Given the description of an element on the screen output the (x, y) to click on. 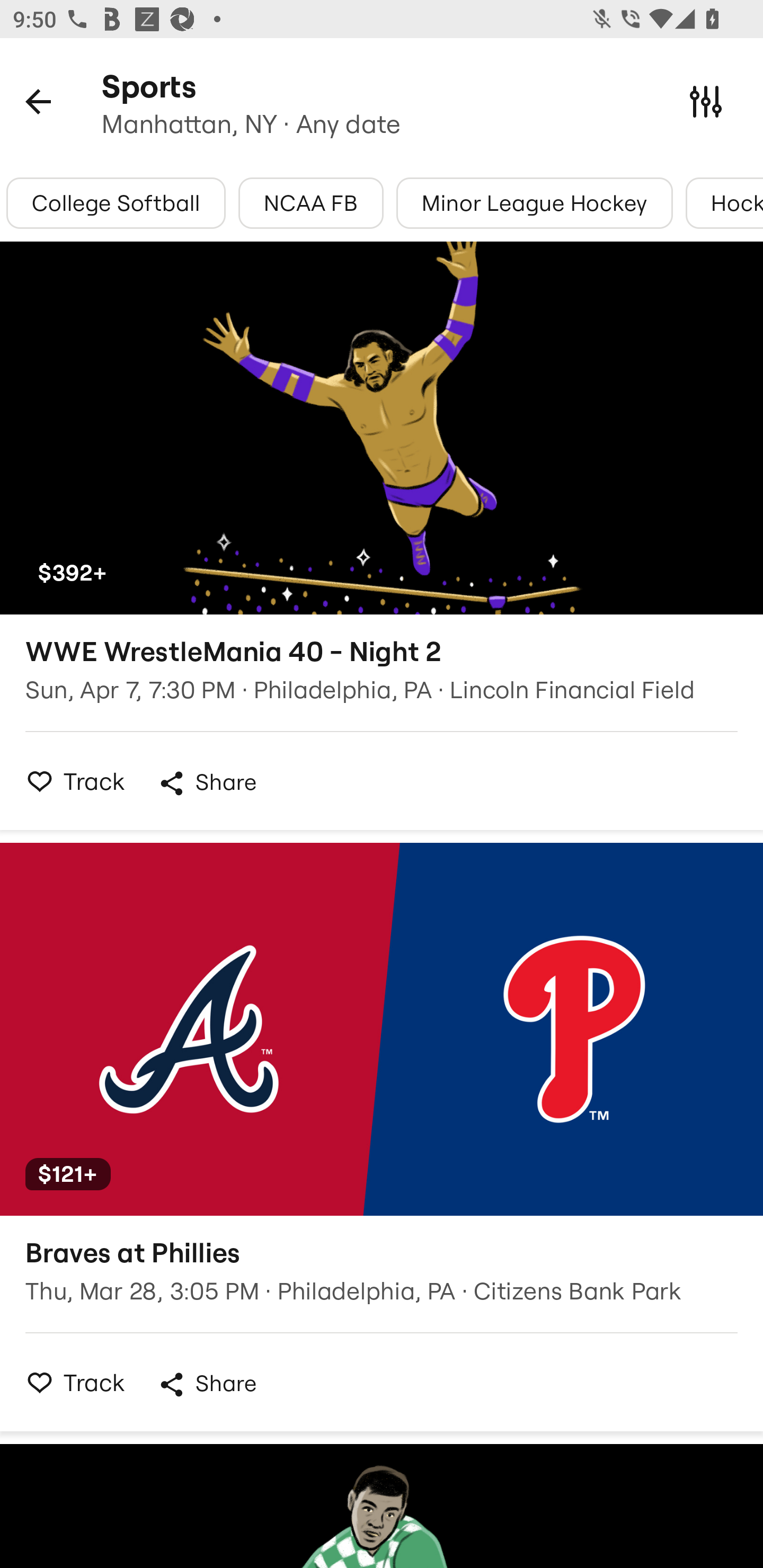
Back (38, 100)
Filters (705, 100)
College Softball (115, 202)
NCAA FB (310, 202)
Minor League Hockey (533, 202)
Track (70, 780)
Share (207, 783)
Track (70, 1381)
Share (207, 1384)
